Given the description of an element on the screen output the (x, y) to click on. 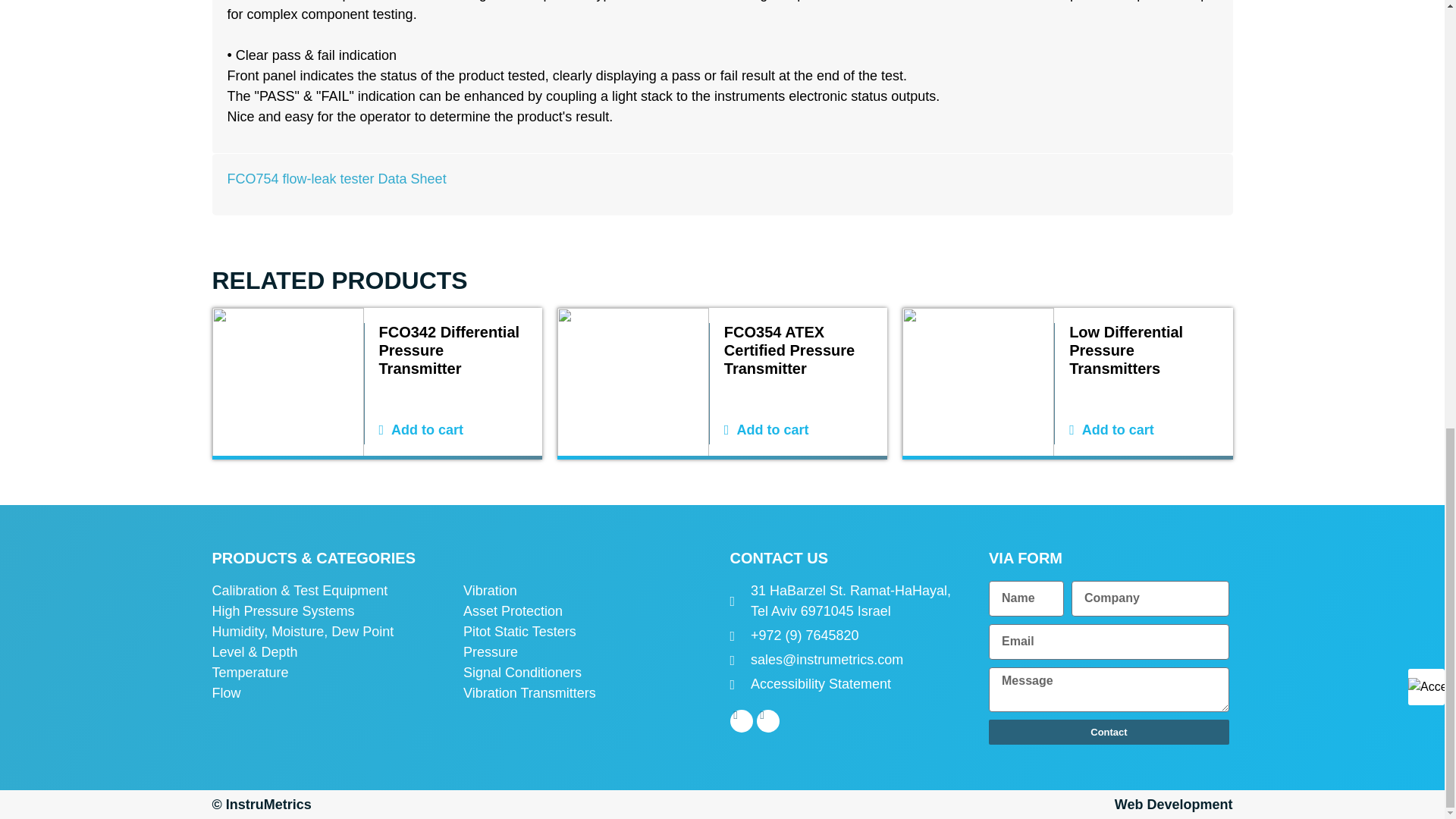
FCO354 ATEX Certified Pressure Transmitter (797, 349)
Low Differential Pressure Transmitters (1142, 349)
FCO342 Differential Pressure Transmitter (452, 349)
